Given the description of an element on the screen output the (x, y) to click on. 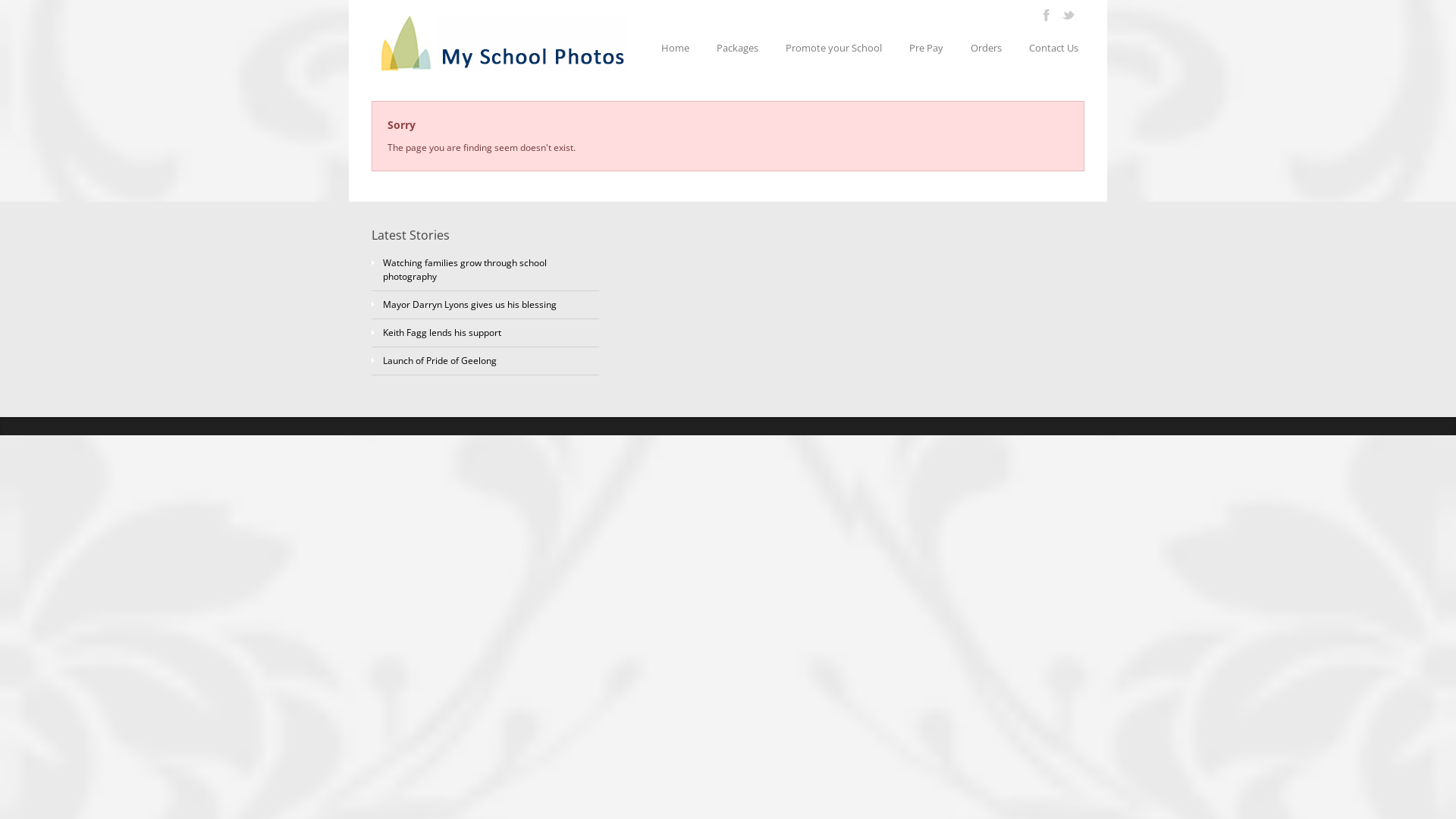
Orders Element type: text (986, 47)
Pre Pay Element type: text (926, 47)
Mayor Darryn Lyons gives us his blessing Element type: text (469, 304)
Promote your School Element type: text (833, 47)
Watching families grow through school photography Element type: text (464, 269)
Launch of Pride of Geelong Element type: text (439, 360)
Keith Fagg lends his support Element type: text (441, 332)
Contact Us Element type: text (1053, 47)
Home Element type: text (674, 47)
Packages Element type: text (736, 47)
